Given the description of an element on the screen output the (x, y) to click on. 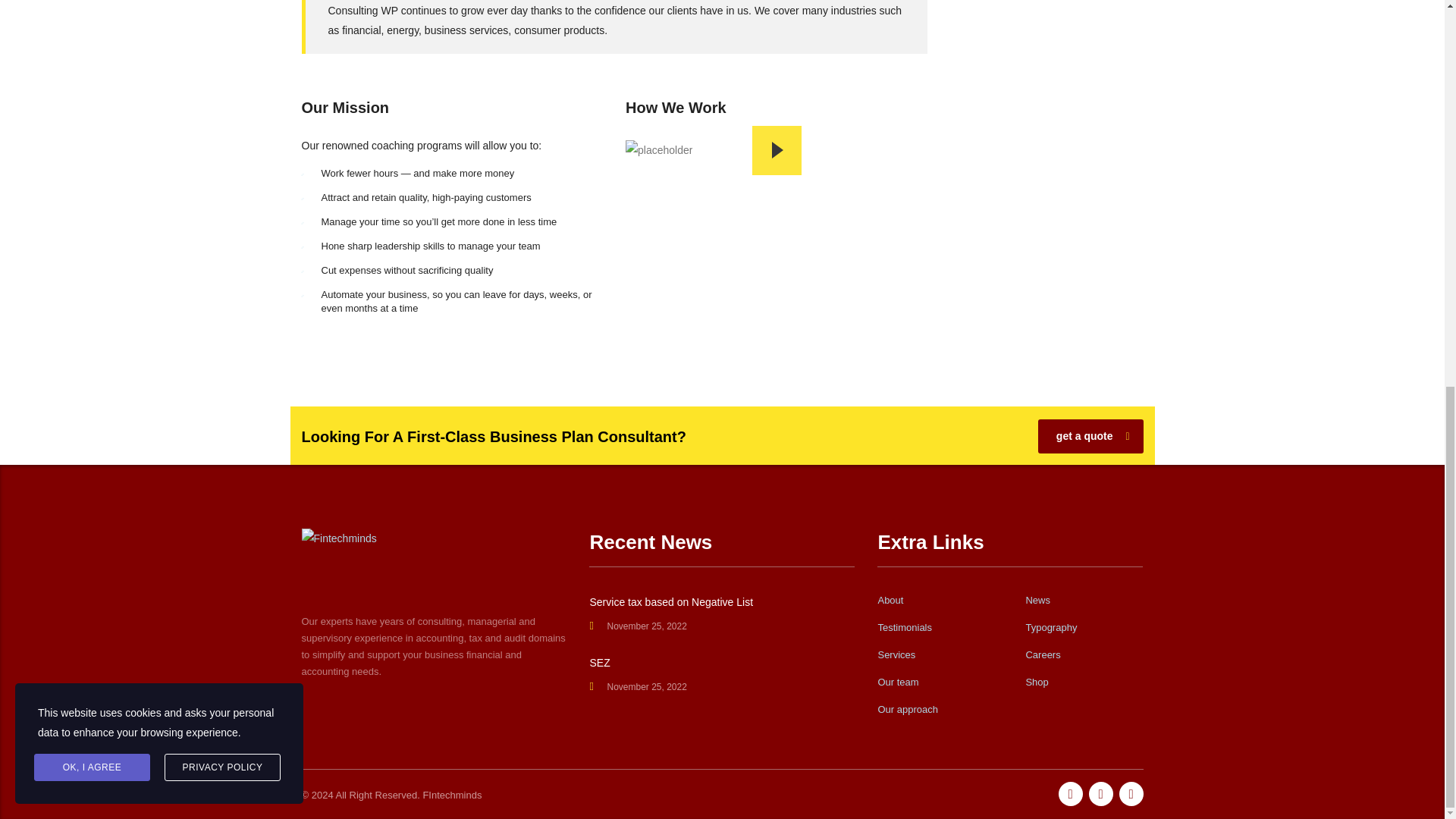
placeholder (659, 149)
